Given the description of an element on the screen output the (x, y) to click on. 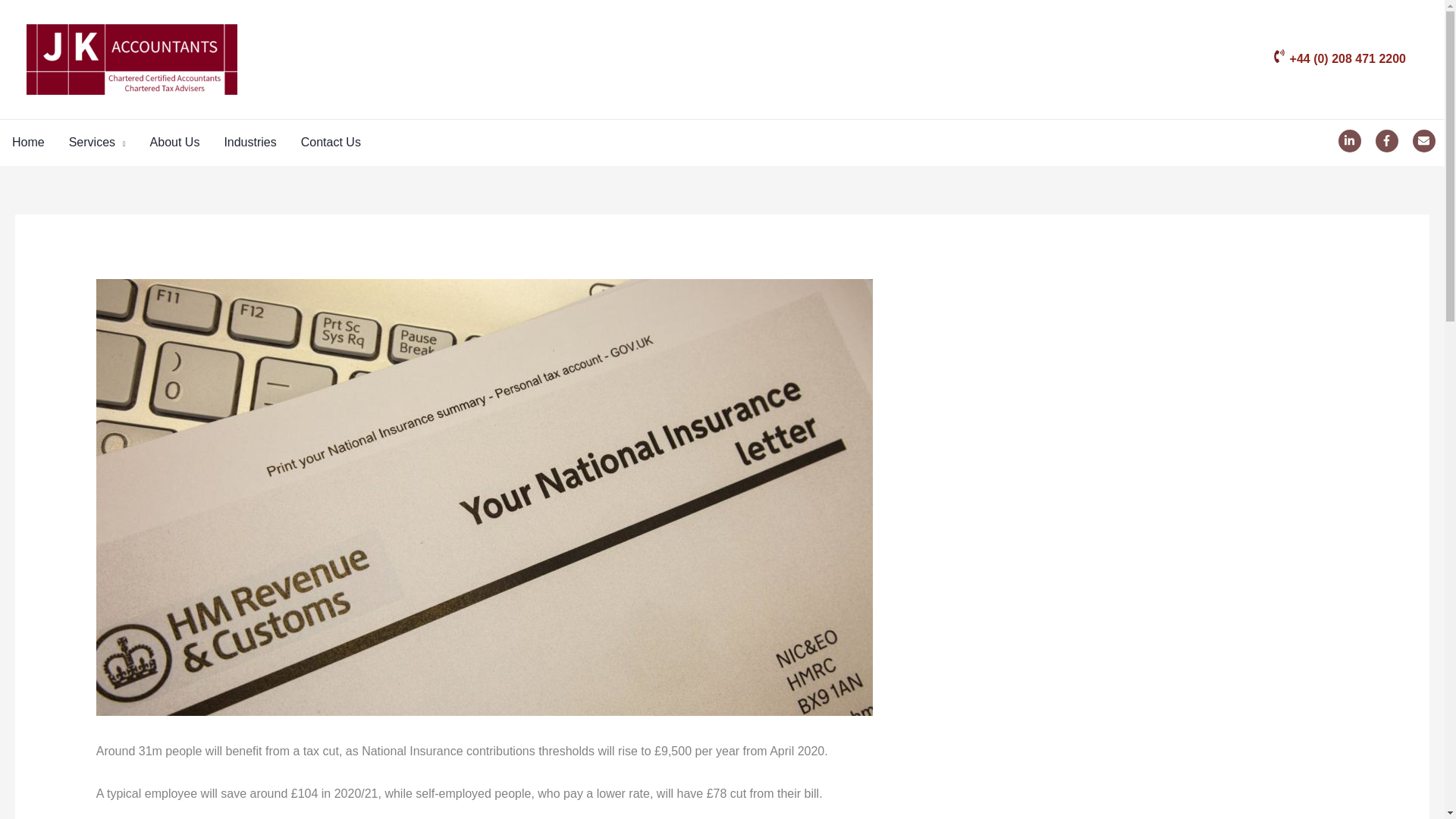
About Us (175, 142)
Home (28, 142)
Industries (249, 142)
Contact Us (330, 142)
Services (97, 142)
